Given the description of an element on the screen output the (x, y) to click on. 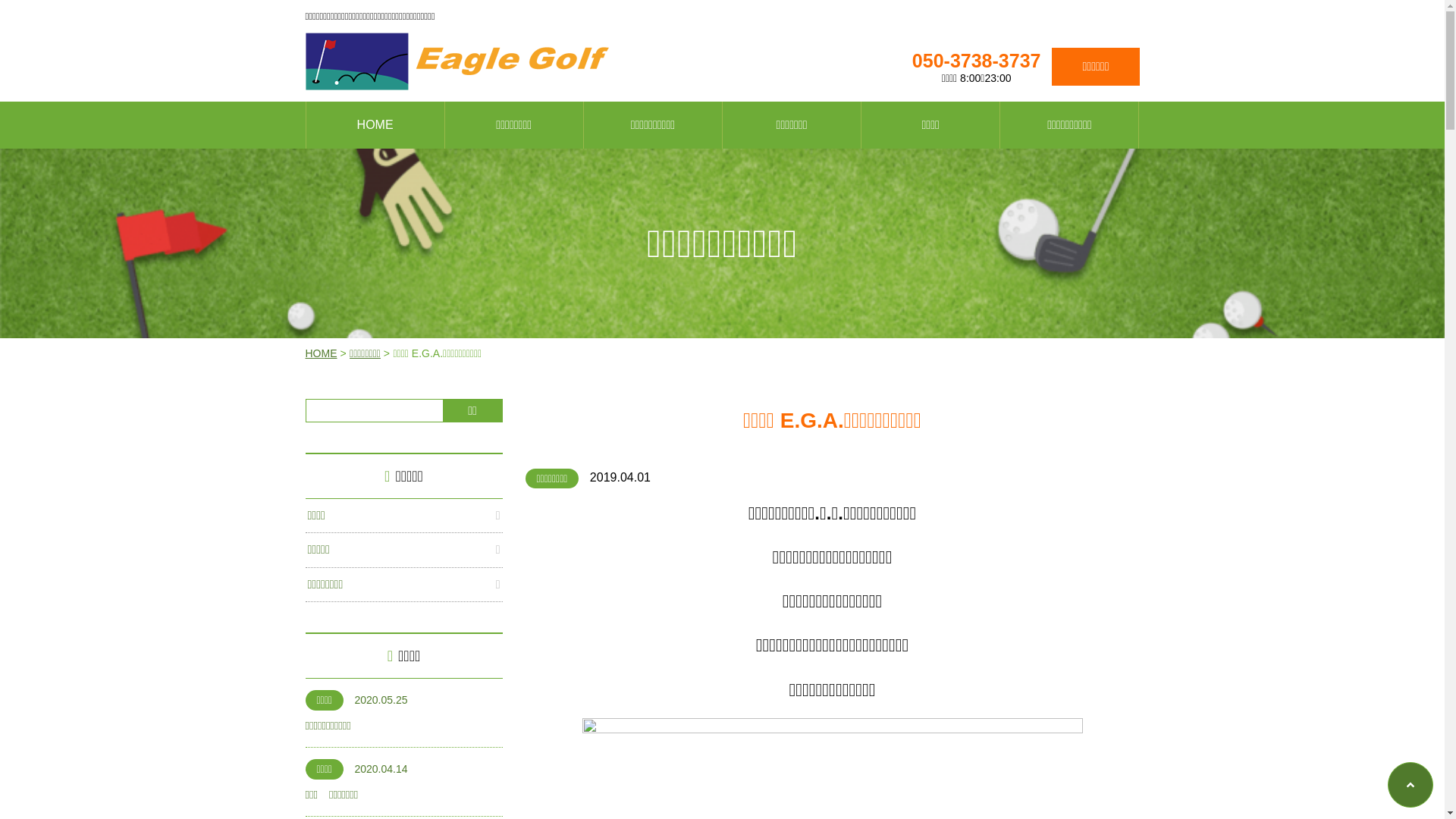
HOME Element type: text (375, 124)
050-3738-3737 Element type: text (976, 60)
HOME Element type: text (320, 353)
